Given the description of an element on the screen output the (x, y) to click on. 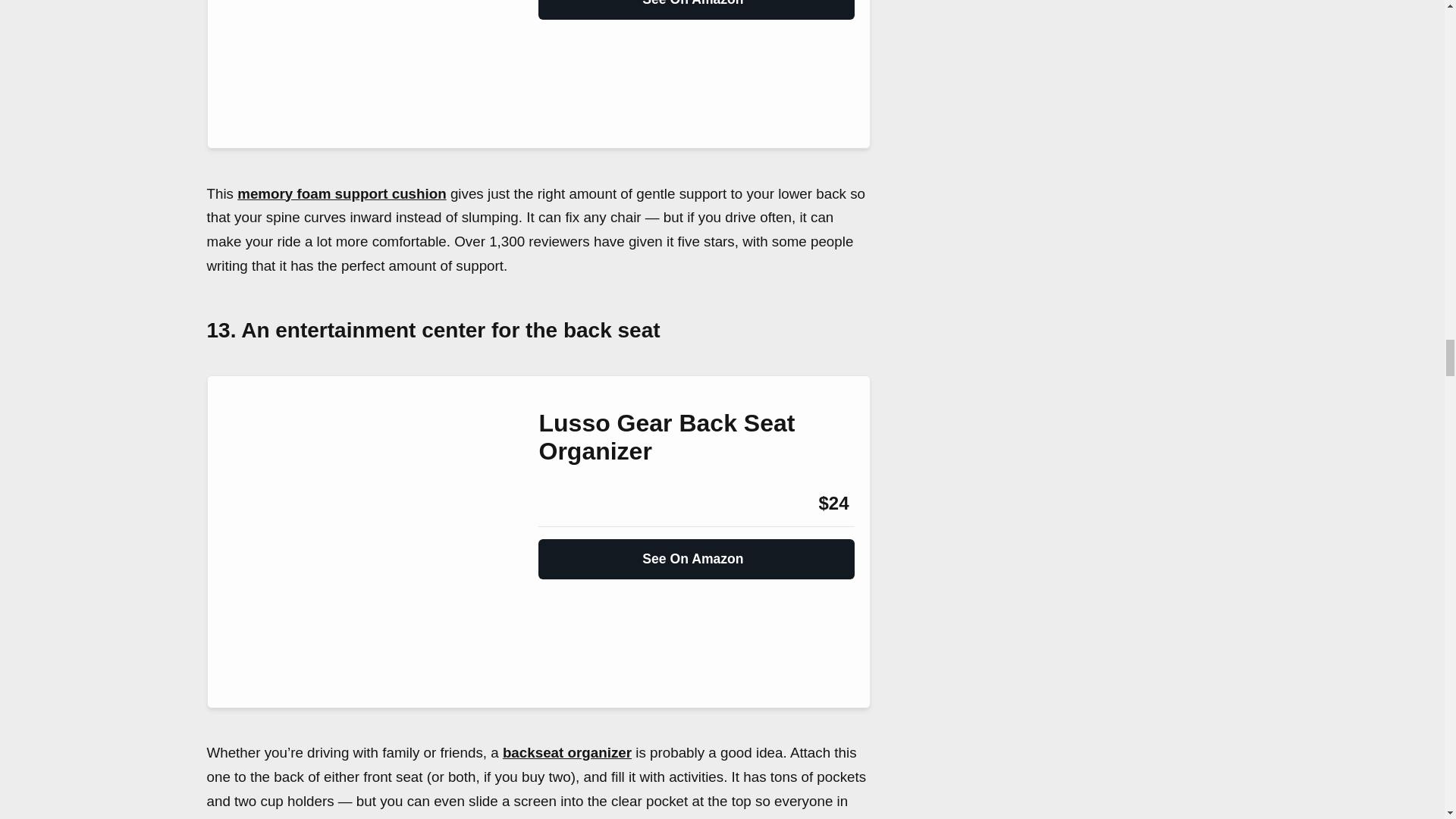
Amazon (579, 503)
